Given the description of an element on the screen output the (x, y) to click on. 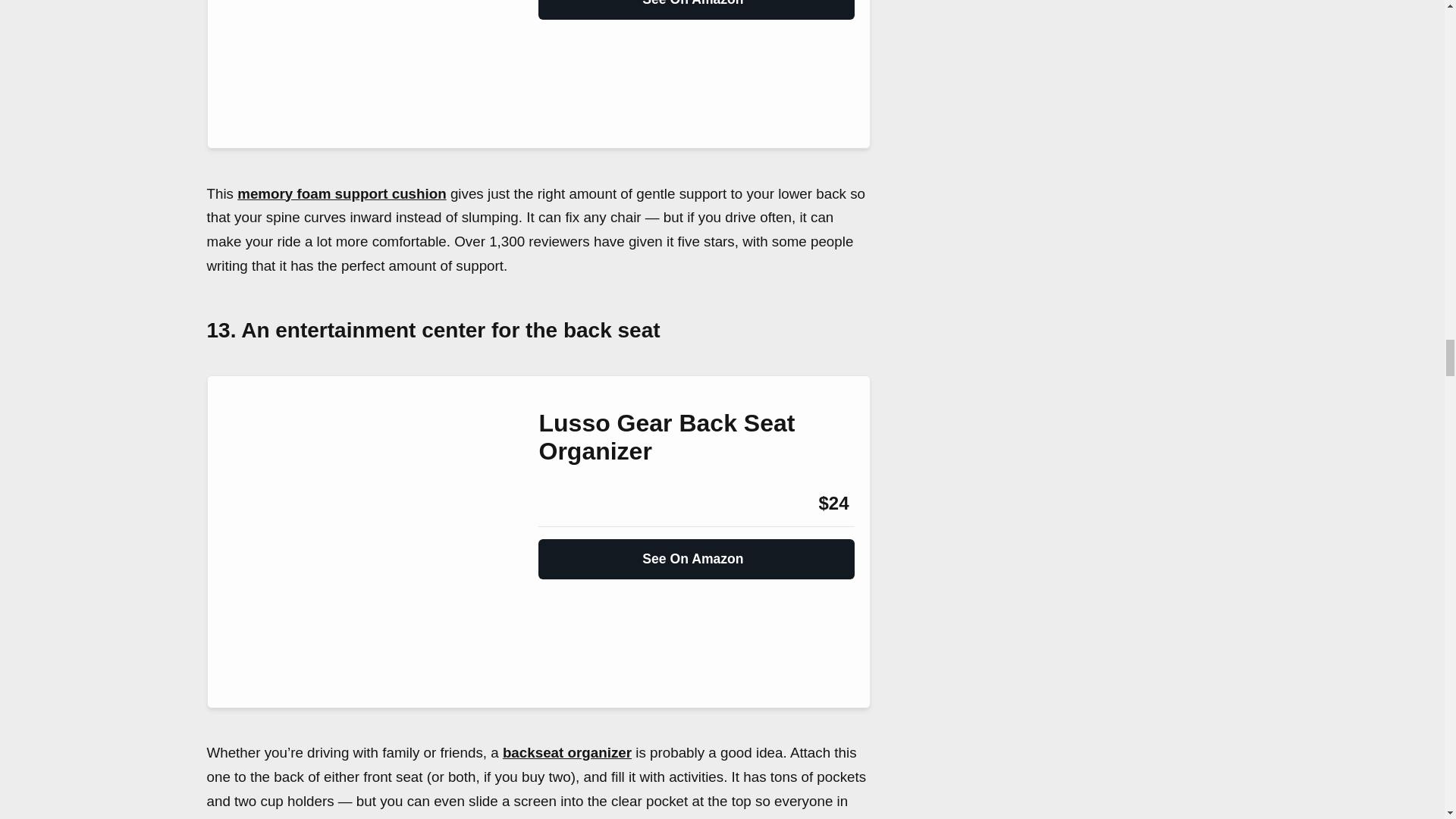
Amazon (579, 503)
